Given the description of an element on the screen output the (x, y) to click on. 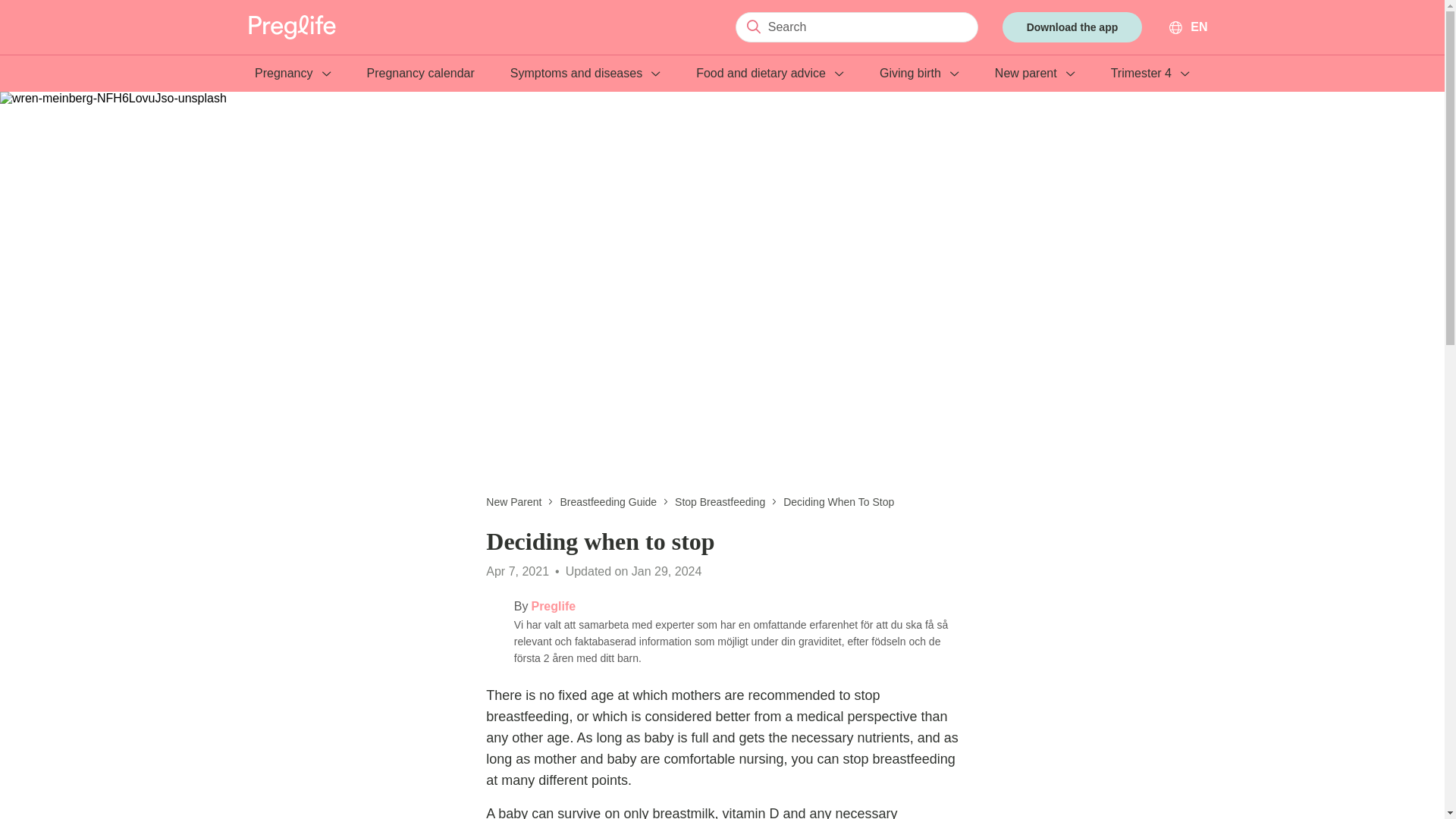
Food and dietary advice (769, 79)
Giving birth (918, 79)
Pregnancy (292, 79)
Download the app (1072, 27)
Pregnancy calendar (420, 79)
Symptoms and diseases (585, 79)
